Given the description of an element on the screen output the (x, y) to click on. 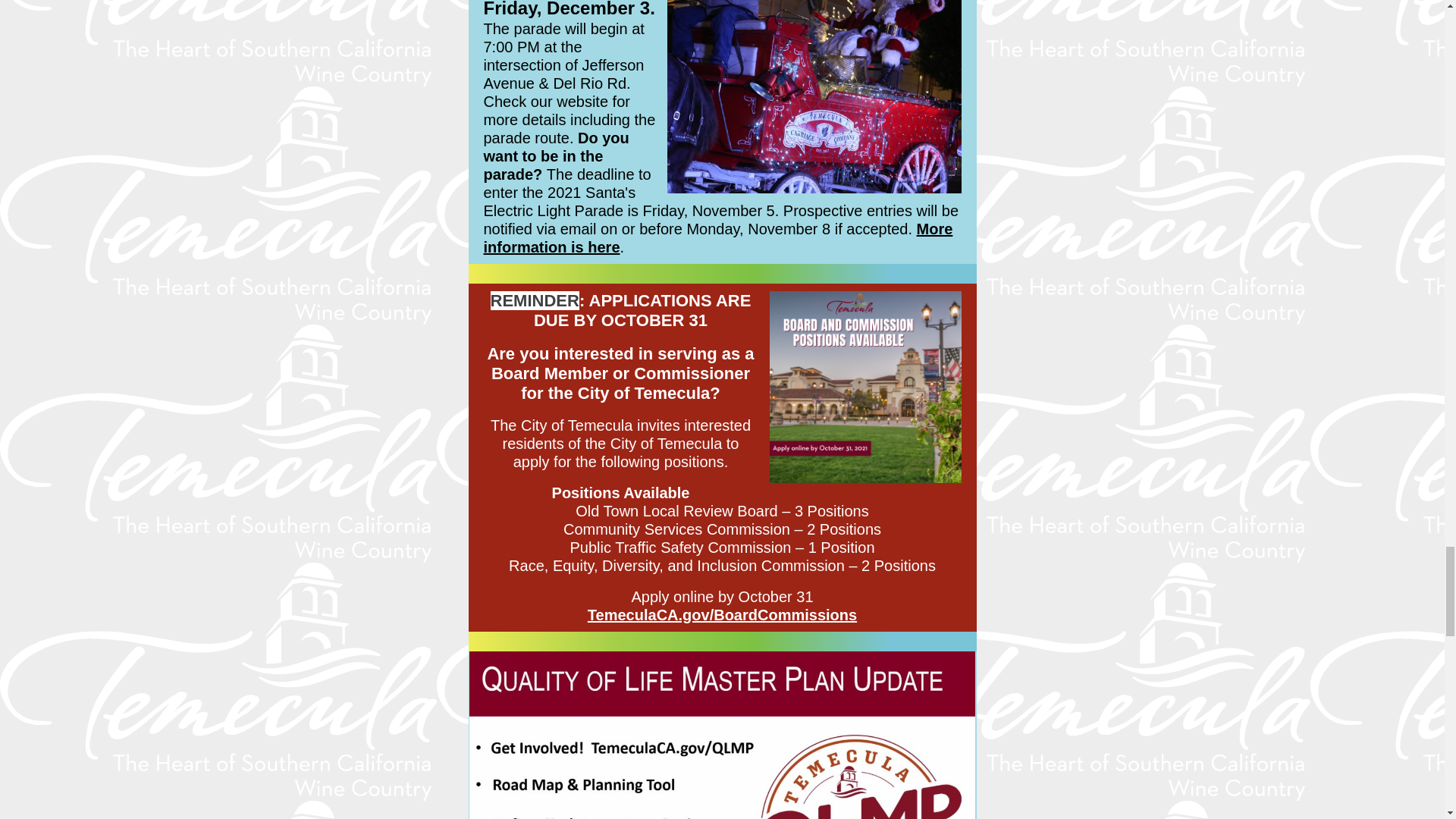
More information is here (718, 237)
